Given the description of an element on the screen output the (x, y) to click on. 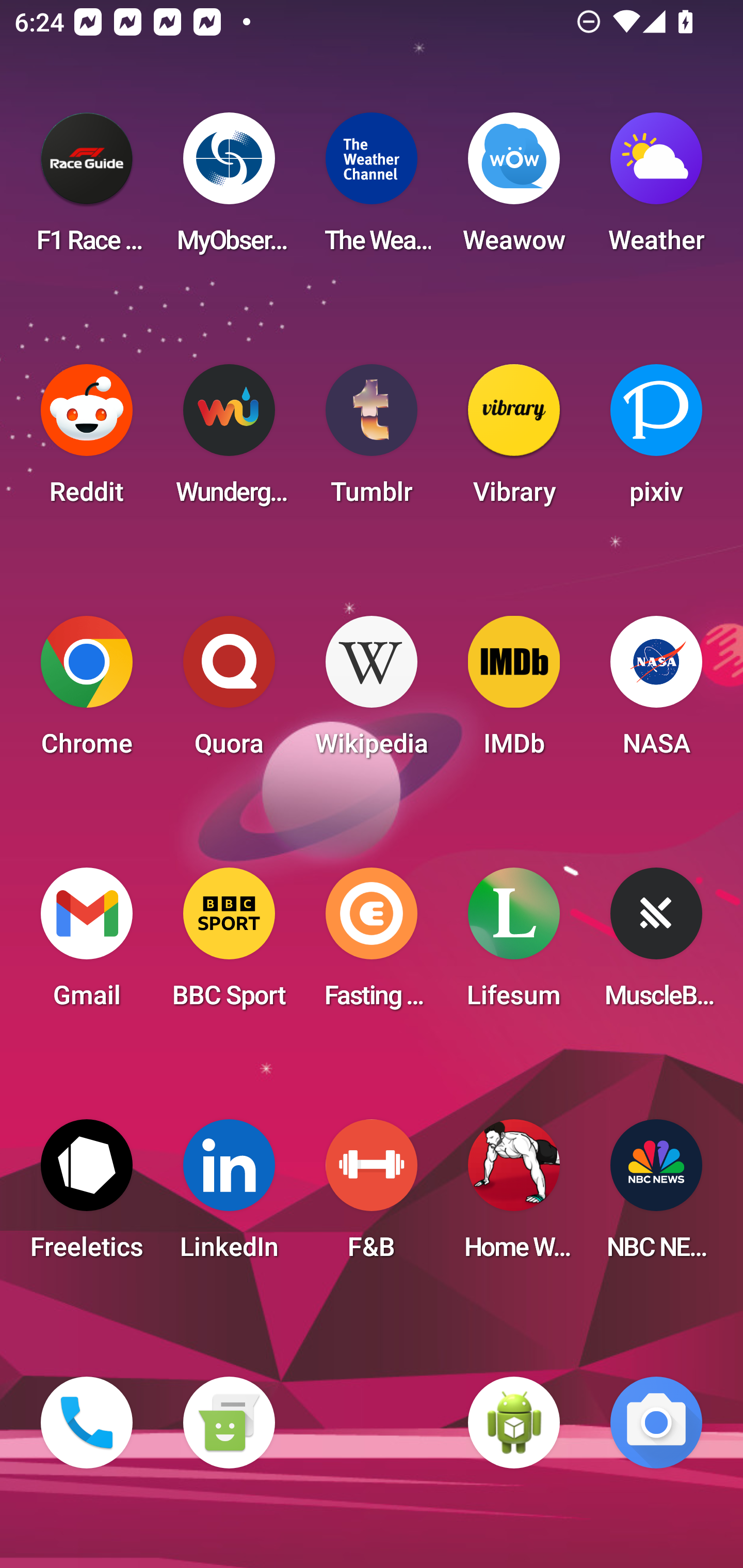
F1 Race Guide (86, 188)
MyObservatory (228, 188)
The Weather Channel (371, 188)
Weawow (513, 188)
Weather (656, 188)
Reddit (86, 440)
Wunderground (228, 440)
Tumblr (371, 440)
Vibrary (513, 440)
pixiv (656, 440)
Chrome (86, 692)
Quora (228, 692)
Wikipedia (371, 692)
IMDb (513, 692)
NASA (656, 692)
Gmail (86, 943)
BBC Sport (228, 943)
Fasting Coach (371, 943)
Lifesum (513, 943)
MuscleBooster (656, 943)
Freeletics (86, 1195)
LinkedIn (228, 1195)
F&B (371, 1195)
Home Workout (513, 1195)
NBC NEWS (656, 1195)
Phone (86, 1422)
Messaging (228, 1422)
WebView Browser Tester (513, 1422)
Camera (656, 1422)
